Given the description of an element on the screen output the (x, y) to click on. 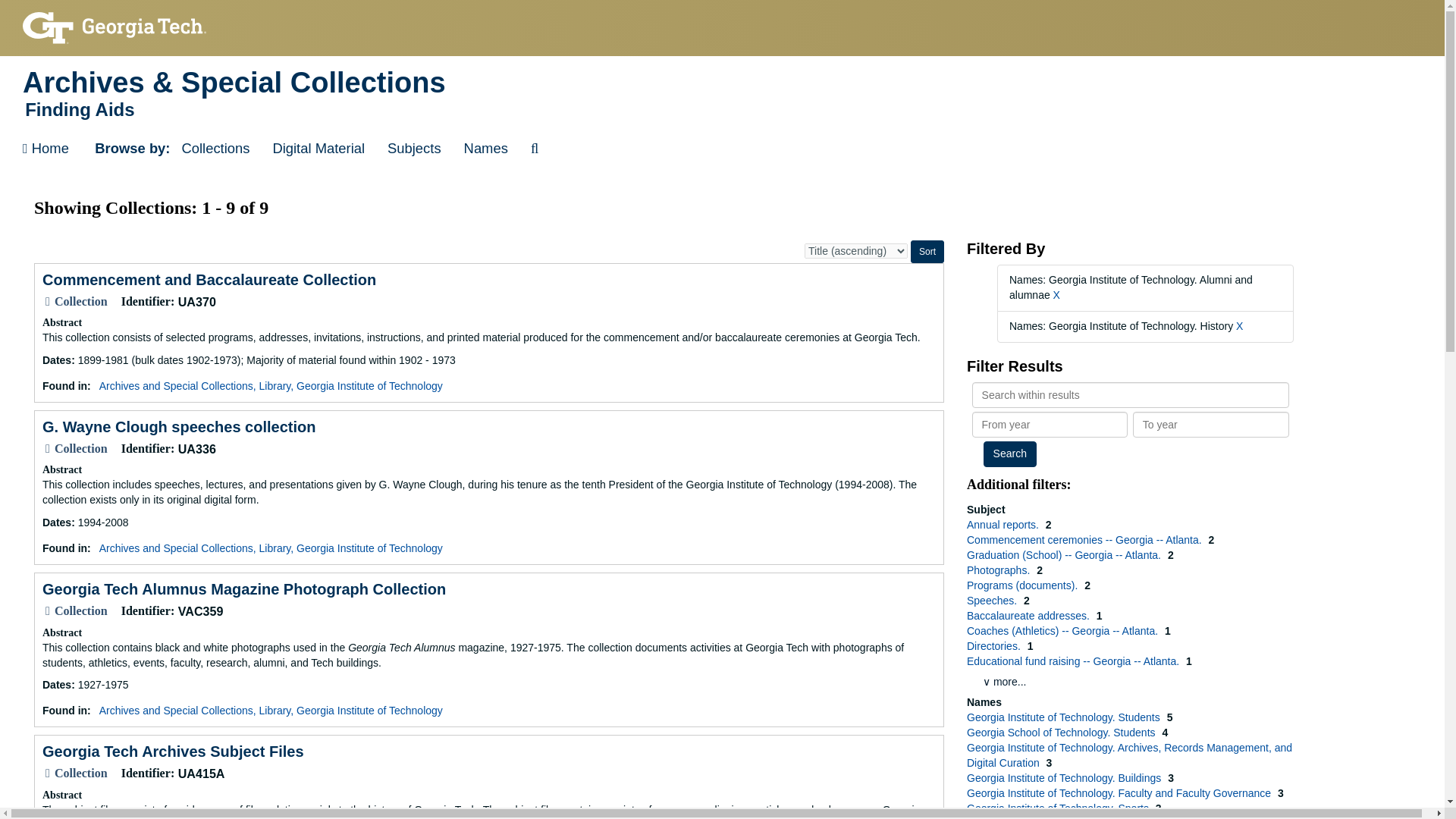
Subjects (413, 148)
Sort (927, 251)
Names (485, 148)
Finding Aids (721, 109)
Search (1010, 453)
Home (45, 148)
Georgia Tech (114, 27)
Finding Aids (721, 109)
translation missing: en.dates (56, 359)
